Given the description of an element on the screen output the (x, y) to click on. 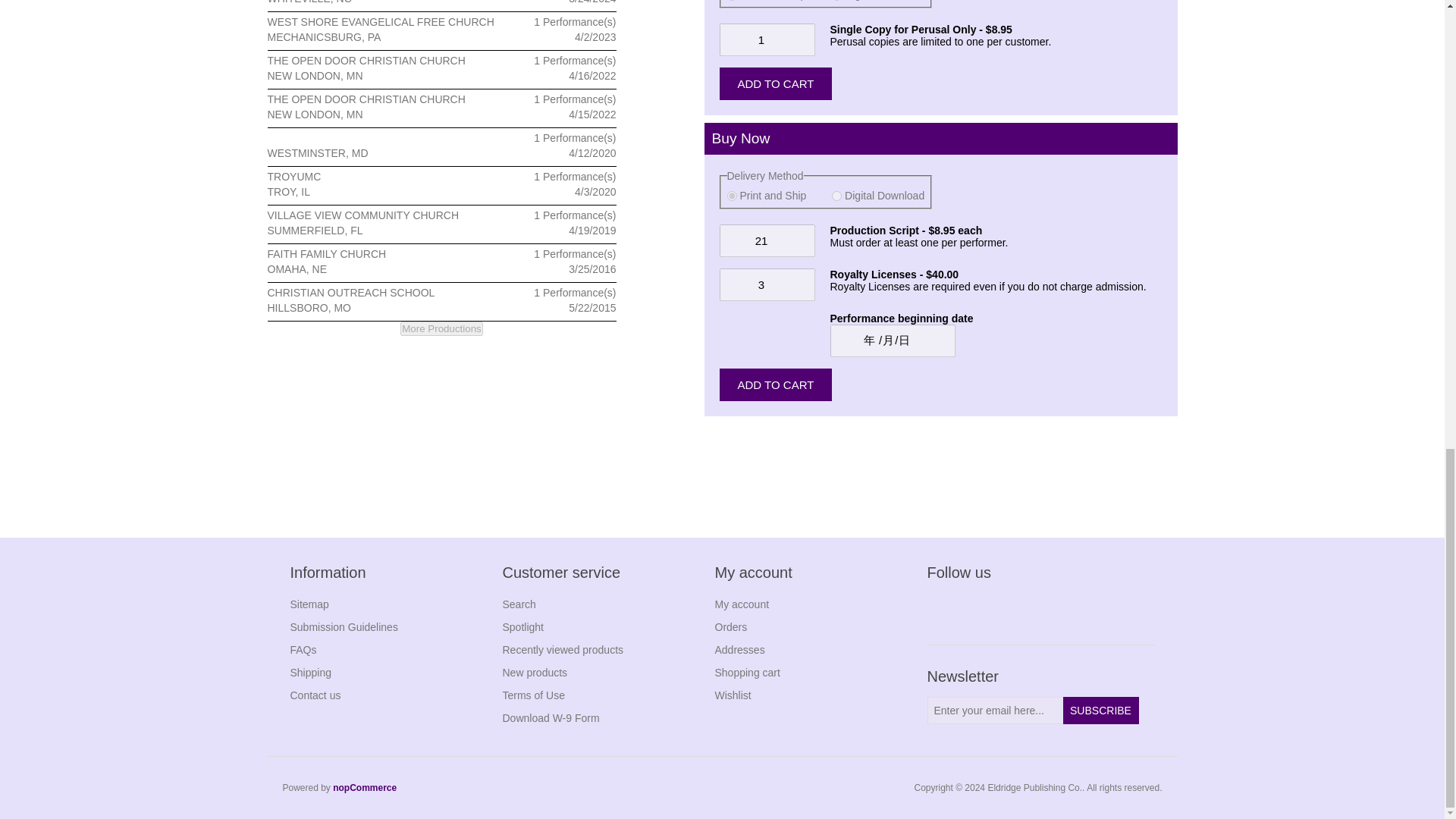
false (731, 195)
Add to cart (775, 83)
Subscribe (1100, 709)
21 (766, 240)
1 (766, 39)
true (836, 195)
Add to Cart (775, 384)
3 (766, 284)
